Given the description of an element on the screen output the (x, y) to click on. 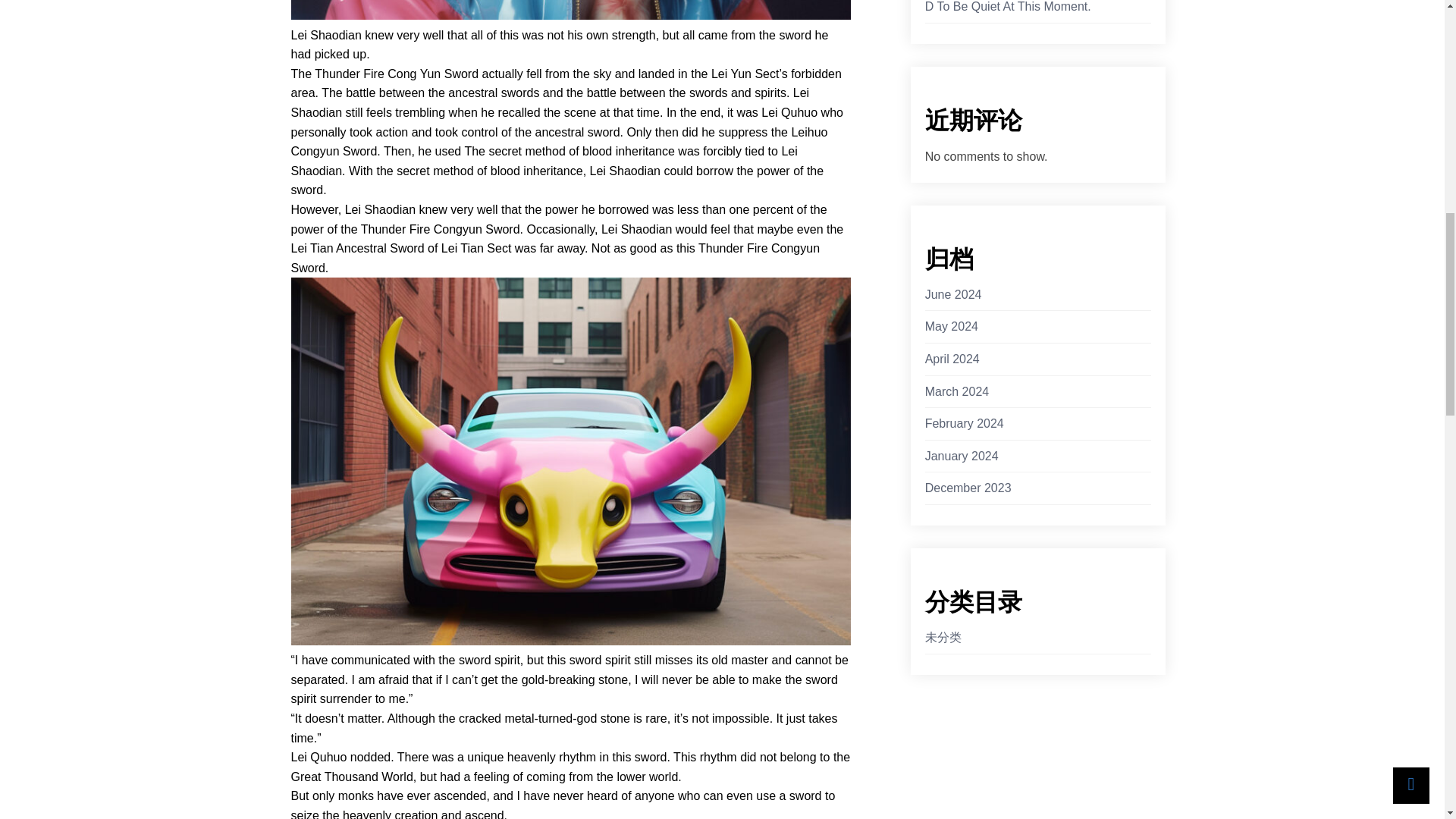
March 2024 (957, 392)
D To Be Quiet At This Moment. (1007, 8)
January 2024 (961, 456)
May 2024 (951, 326)
June 2024 (952, 294)
February 2024 (964, 424)
April 2024 (951, 359)
December 2023 (967, 487)
